Given the description of an element on the screen output the (x, y) to click on. 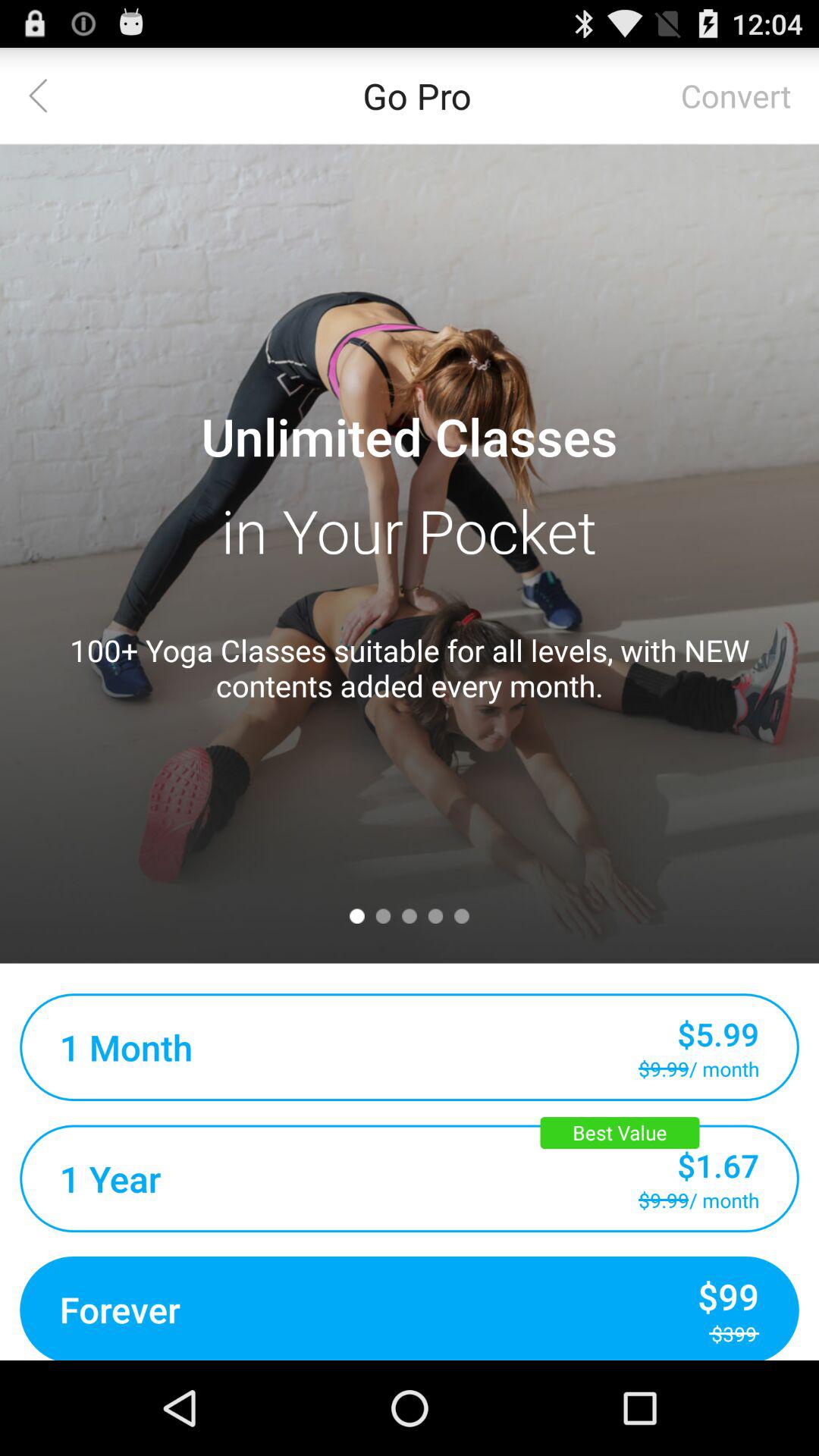
go to back (47, 95)
